Given the description of an element on the screen output the (x, y) to click on. 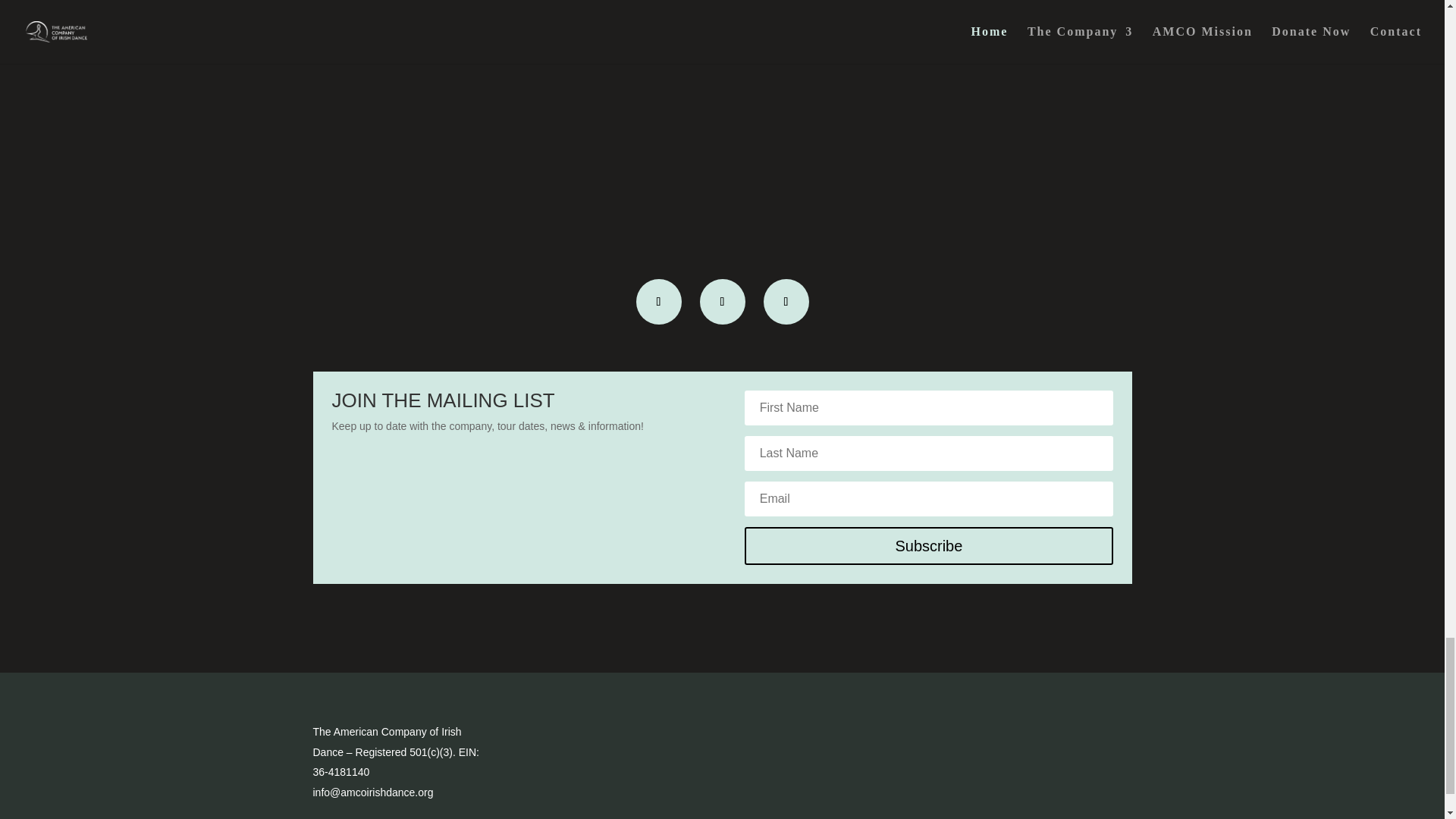
Follow on Facebook (657, 301)
Follow on Youtube (785, 301)
Follow on Instagram (721, 301)
Subscribe (928, 546)
